Given the description of an element on the screen output the (x, y) to click on. 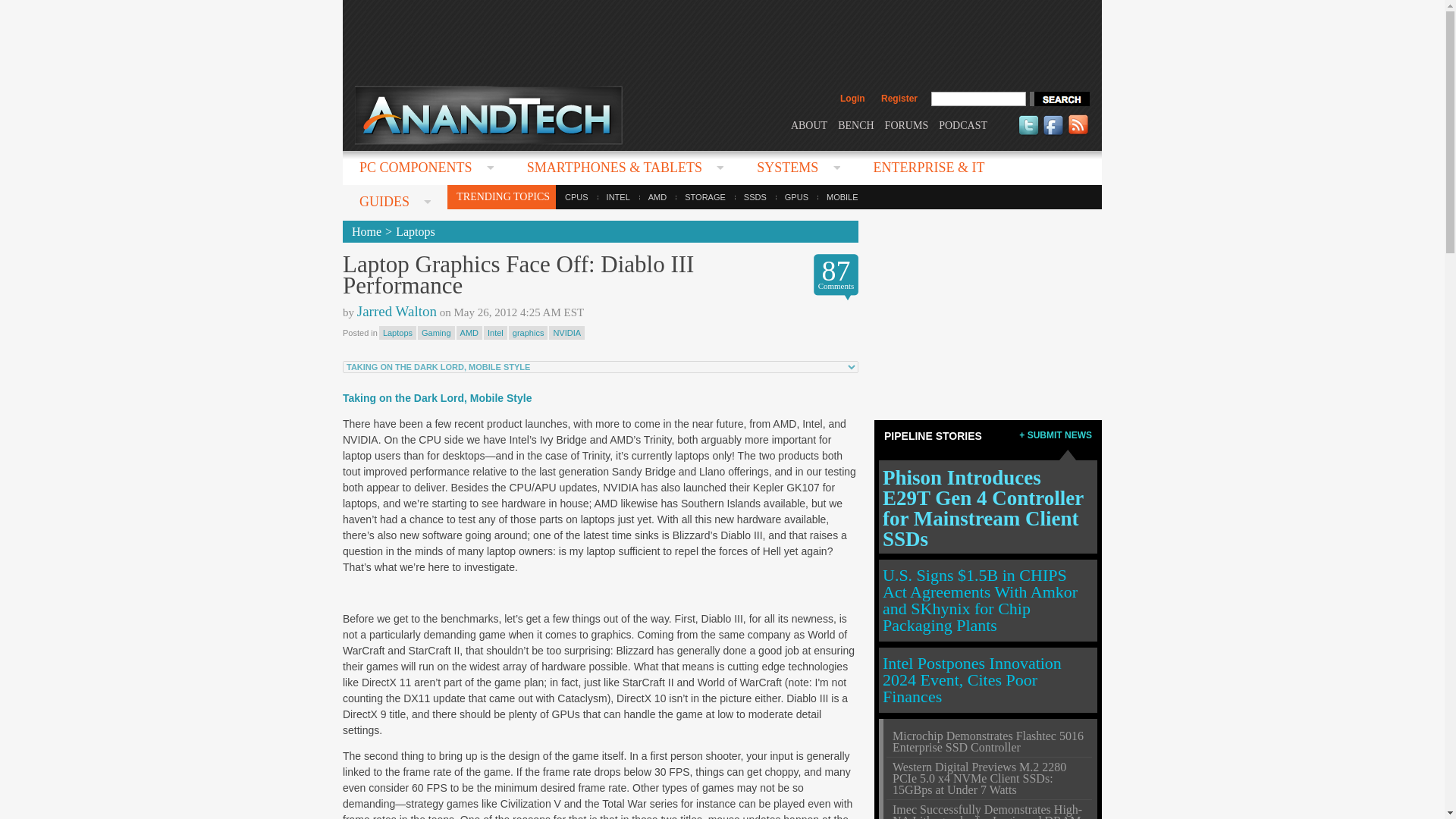
Register (898, 98)
search (1059, 98)
BENCH (855, 125)
Login (852, 98)
search (1059, 98)
PODCAST (963, 125)
FORUMS (906, 125)
ABOUT (808, 125)
search (1059, 98)
